Given the description of an element on the screen output the (x, y) to click on. 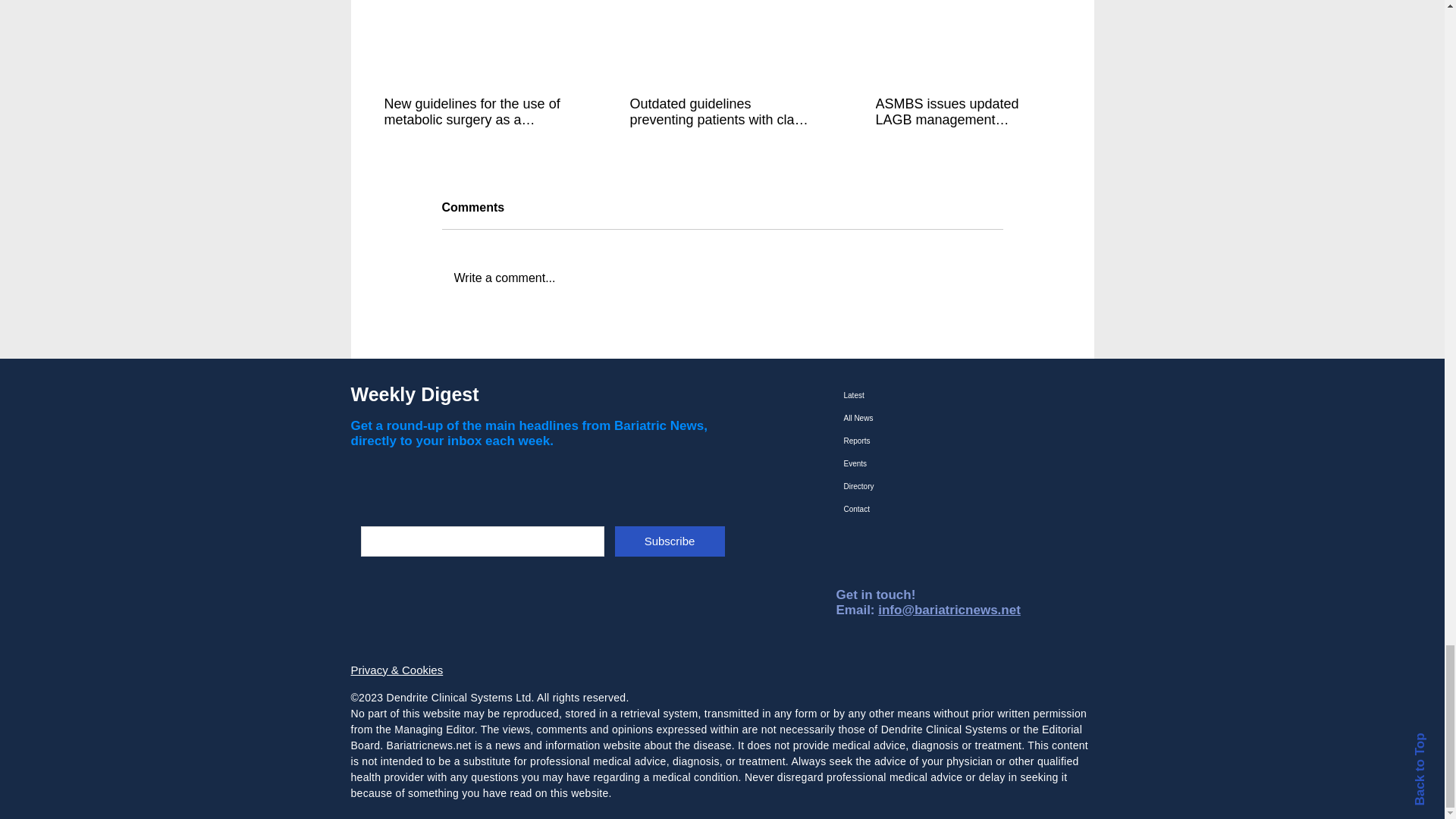
ASMBS issues updated LAGB management consensus statement (966, 111)
